Given the description of an element on the screen output the (x, y) to click on. 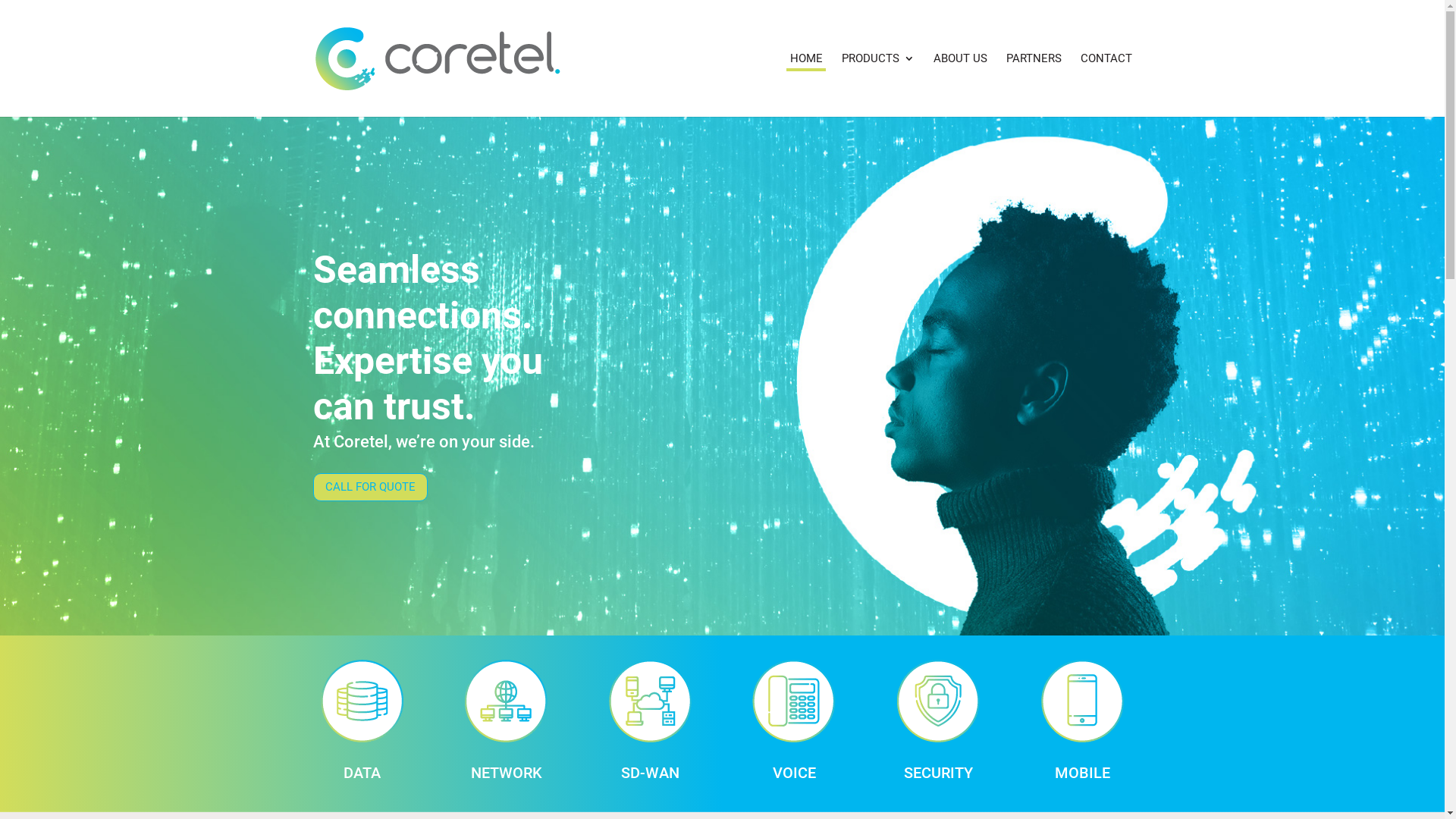
data-icon Element type: hover (361, 700)
HOME Element type: text (806, 84)
voice-icon Element type: hover (793, 700)
sd-icon Element type: hover (649, 700)
network-icon Element type: hover (505, 700)
CONTACT Element type: text (1105, 84)
mobile-data Element type: hover (1082, 700)
CALL FOR QUOTE Element type: text (369, 487)
security-icon Element type: hover (938, 700)
PRODUCTS Element type: text (877, 84)
ABOUT US Element type: text (959, 84)
PARTNERS Element type: text (1032, 84)
